Given the description of an element on the screen output the (x, y) to click on. 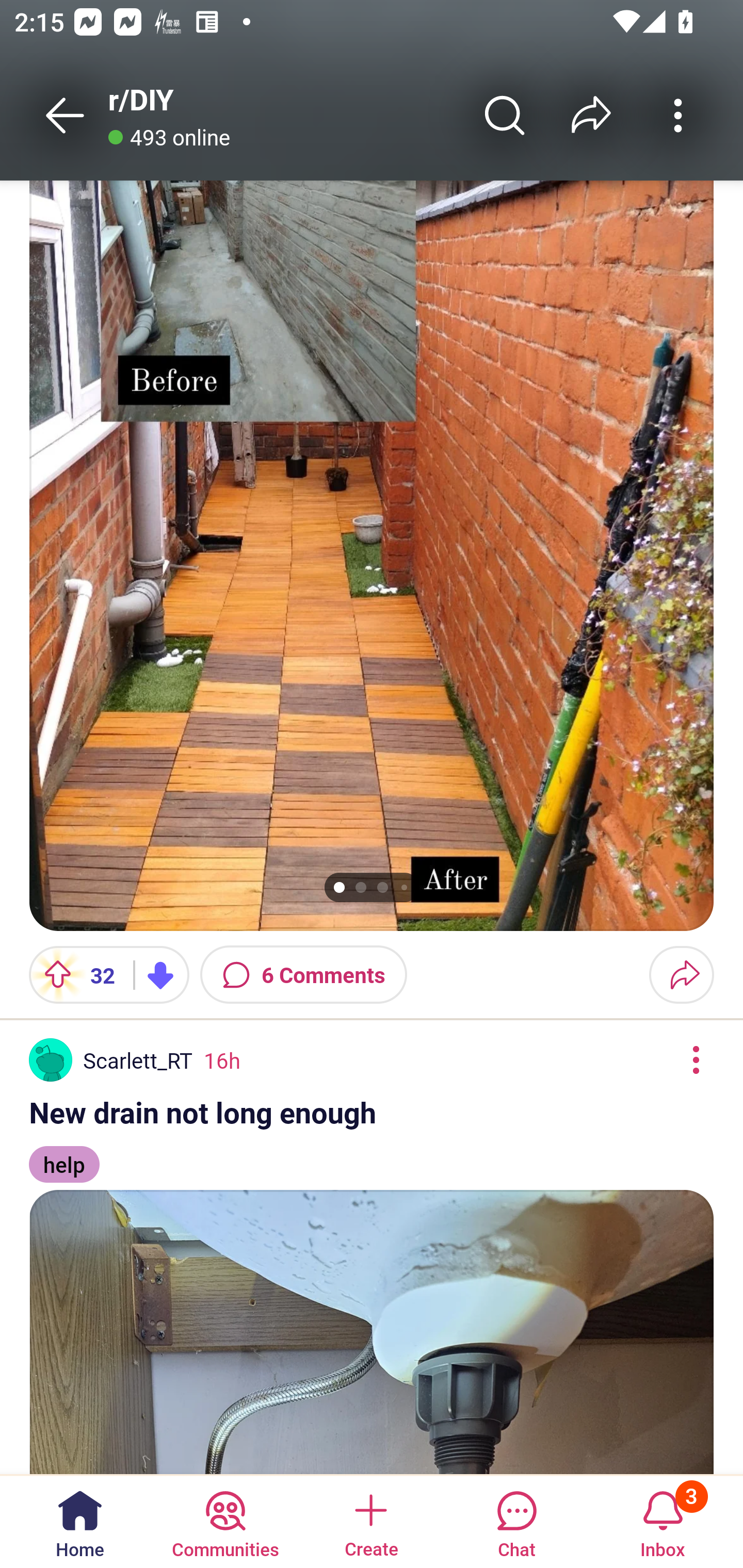
Back (64, 115)
Search r/﻿DIY (504, 115)
Share r/﻿DIY (591, 115)
More community actions (677, 115)
help (63, 1155)
Home (80, 1520)
Communities (225, 1520)
Create a post Create (370, 1520)
Chat (516, 1520)
Inbox, has 3 notifications 3 Inbox (662, 1520)
